Given the description of an element on the screen output the (x, y) to click on. 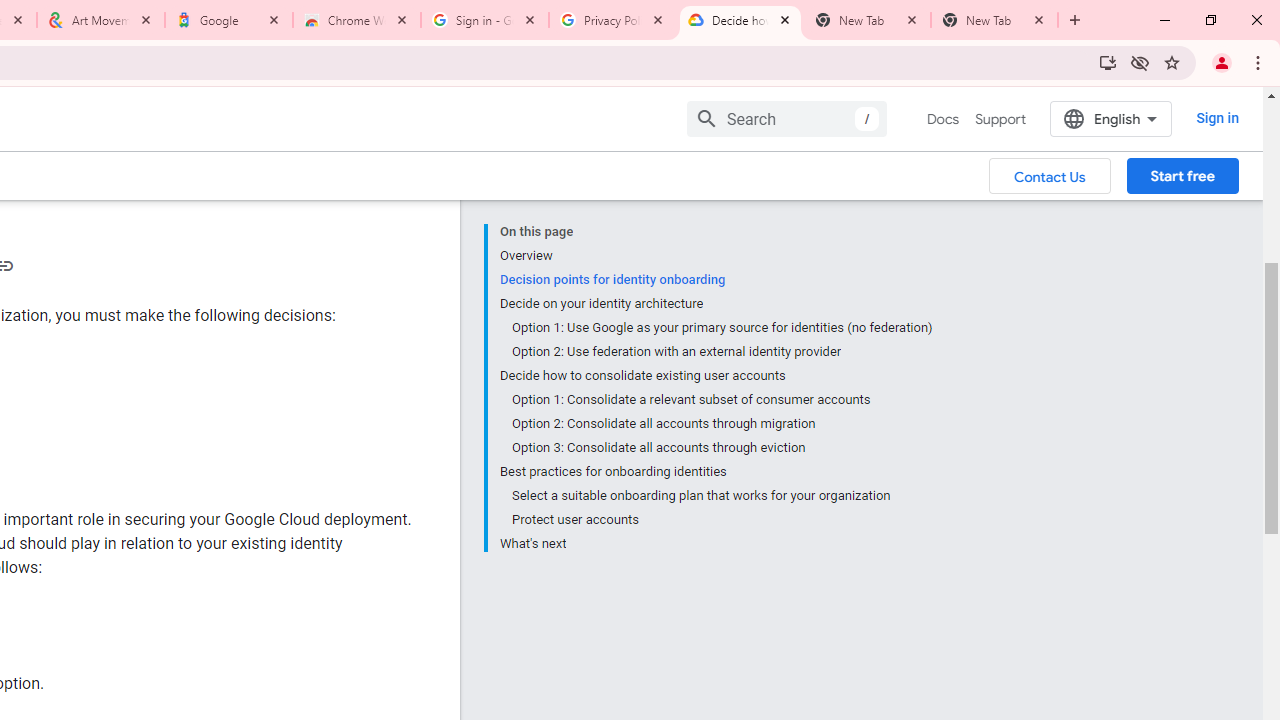
Contact Us (1050, 175)
English (1110, 118)
Chrome Web Store - Color themes by Chrome (357, 20)
